Given the description of an element on the screen output the (x, y) to click on. 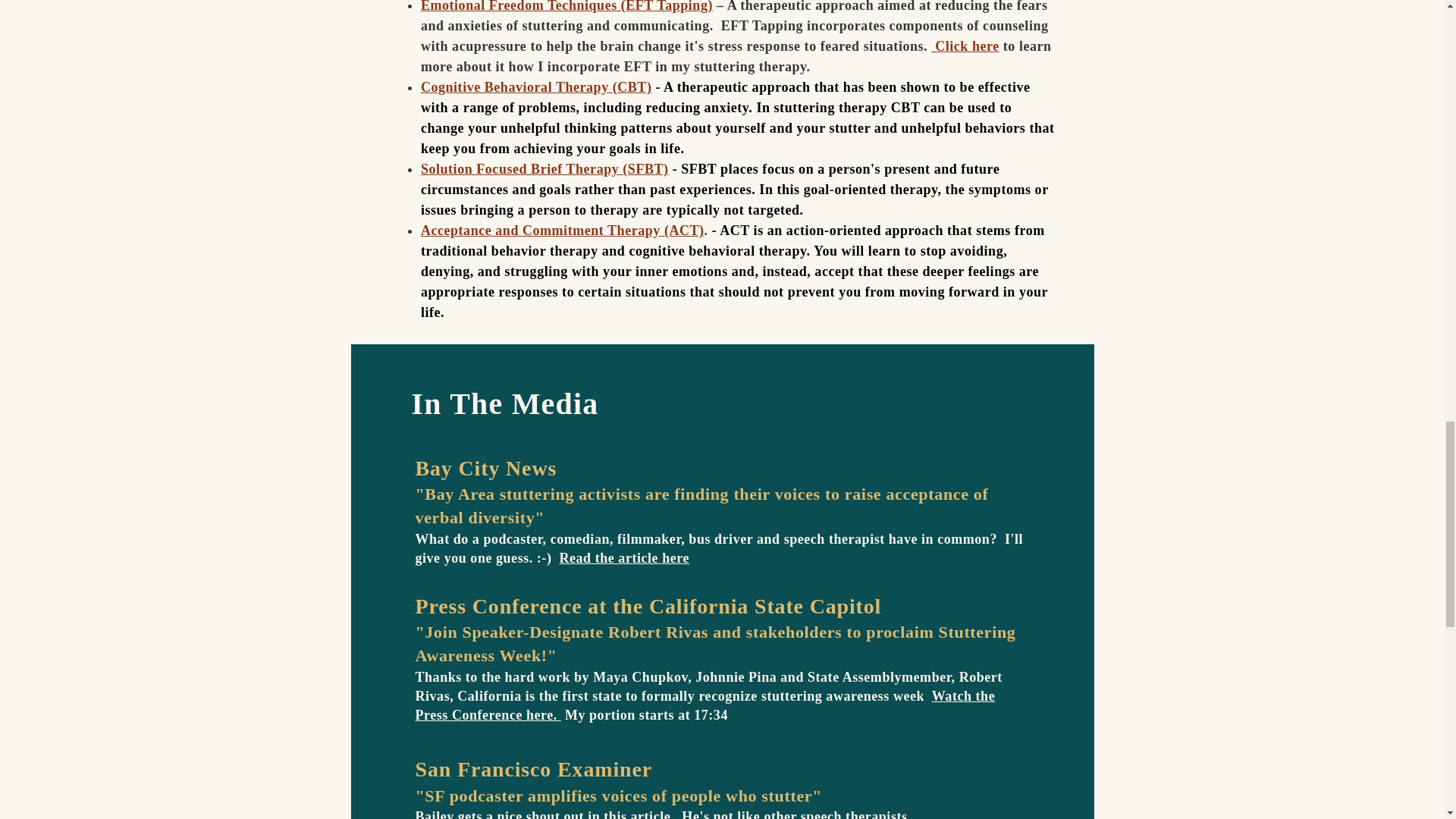
Watch the Press (704, 705)
Conference here.  (505, 714)
Read the article here (623, 557)
Acceptance and Commitment Therapy (540, 230)
